Given the description of an element on the screen output the (x, y) to click on. 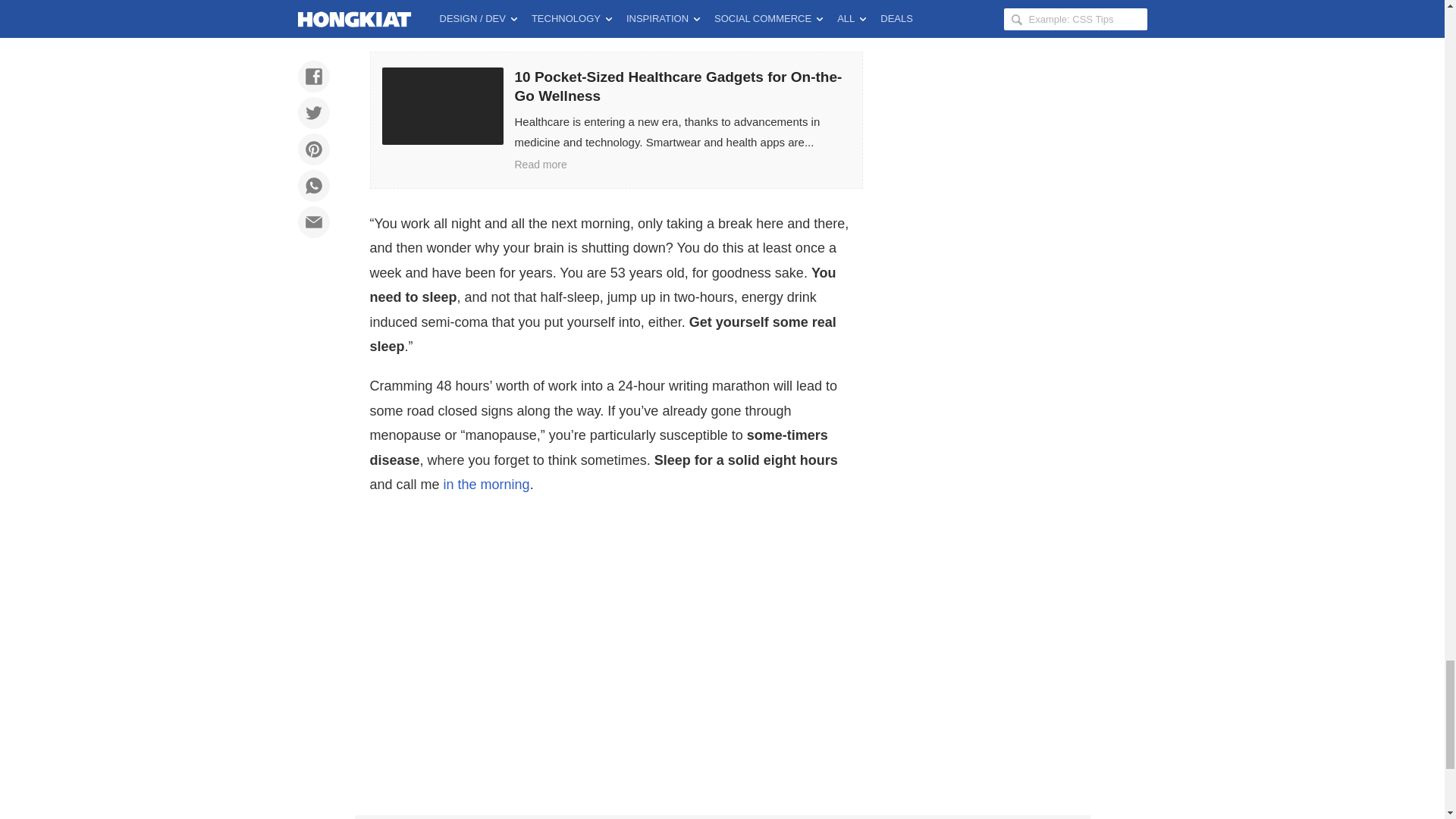
in the morning (486, 484)
10 Pocket-Sized Healthcare Gadgets for On-the-Go Wellness (615, 120)
